Given the description of an element on the screen output the (x, y) to click on. 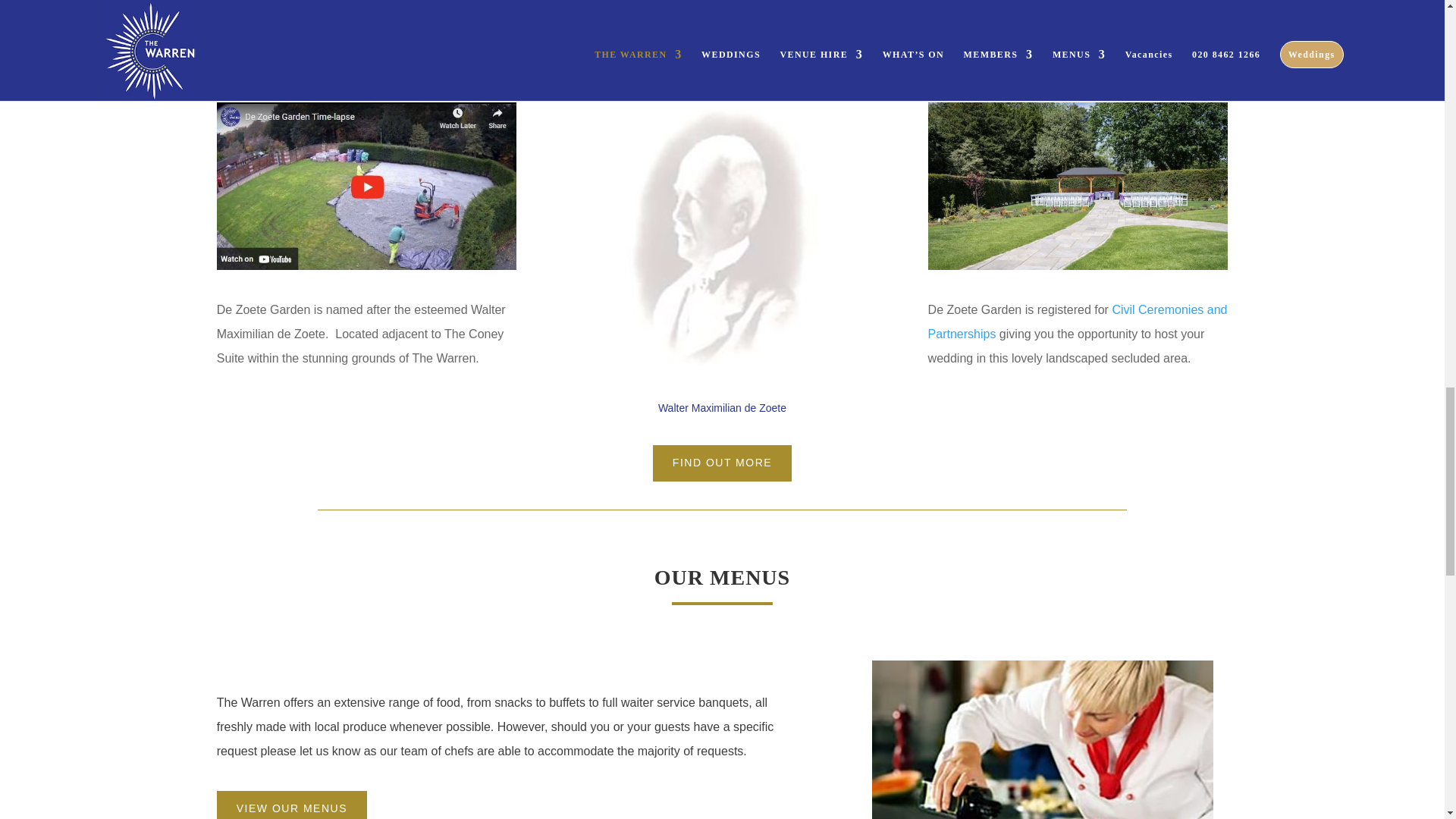
The Warren Coney Suite Garden (721, 244)
De Zoete Garden Coney Suite (1078, 186)
The-Warren-Rooms -Our-Menus (1042, 739)
De zoete timelapse (366, 186)
